Given the description of an element on the screen output the (x, y) to click on. 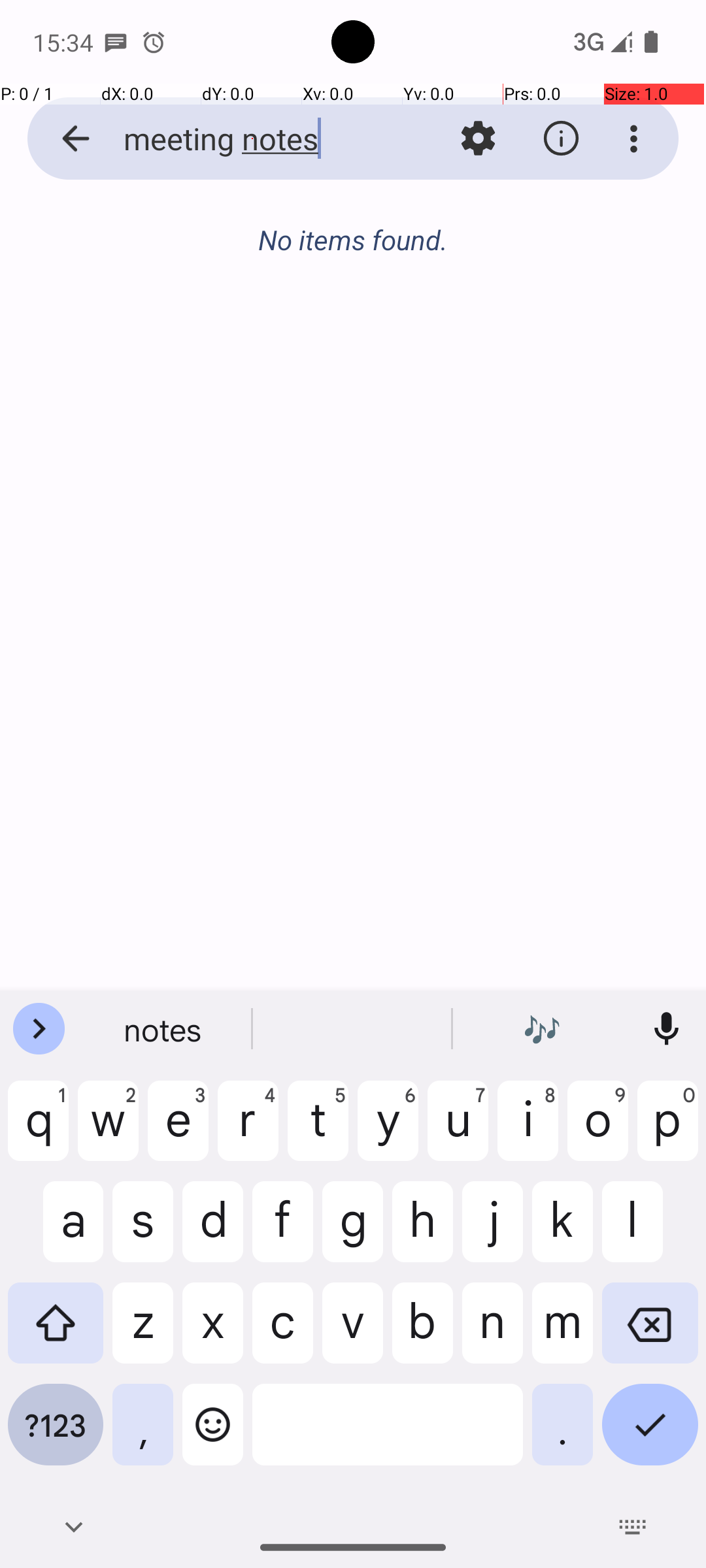
meeting notes Element type: android.widget.EditText (252, 138)
+15713179390 Element type: android.widget.TextView (408, 242)
Don't forget to water the plants while I'm away. Element type: android.widget.TextView (408, 281)
+11539603318 Element type: android.widget.TextView (408, 412)
Cleanliness is next to godliness. Element type: android.widget.TextView (408, 450)
+10499216643 Element type: android.widget.TextView (408, 581)
Elementary, my dear Watson. Element type: android.widget.TextView (408, 620)
+15705921269 Element type: android.widget.TextView (408, 750)
The early bird catches the worm. Element type: android.widget.TextView (408, 789)
notes Element type: android.widget.FrameLayout (163, 1028)
emoji 🎶 Element type: android.widget.FrameLayout (541, 1028)
